Given the description of an element on the screen output the (x, y) to click on. 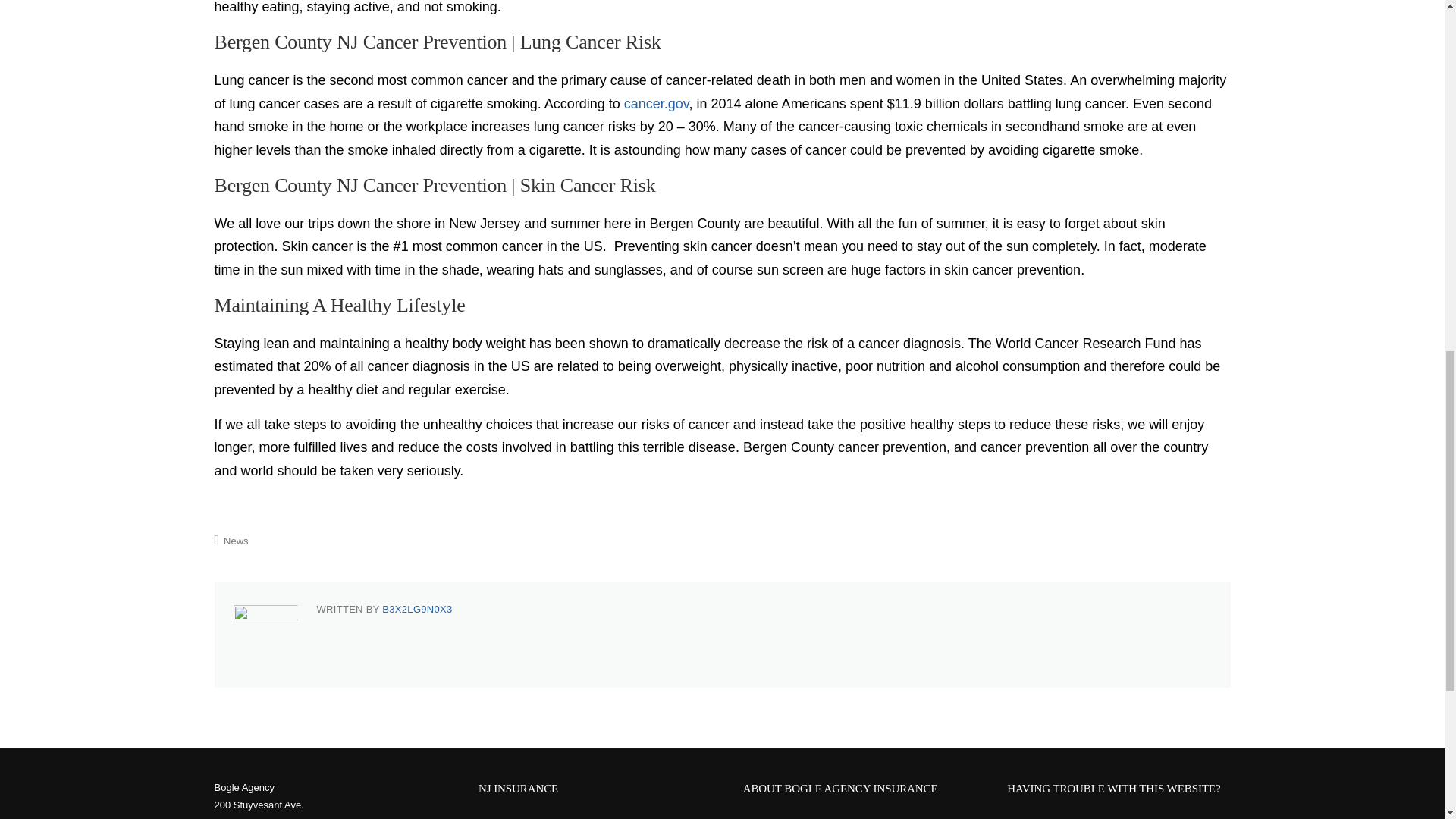
cancer.gov (656, 103)
News (236, 541)
B3X2LG9N0X3 (416, 609)
